Given the description of an element on the screen output the (x, y) to click on. 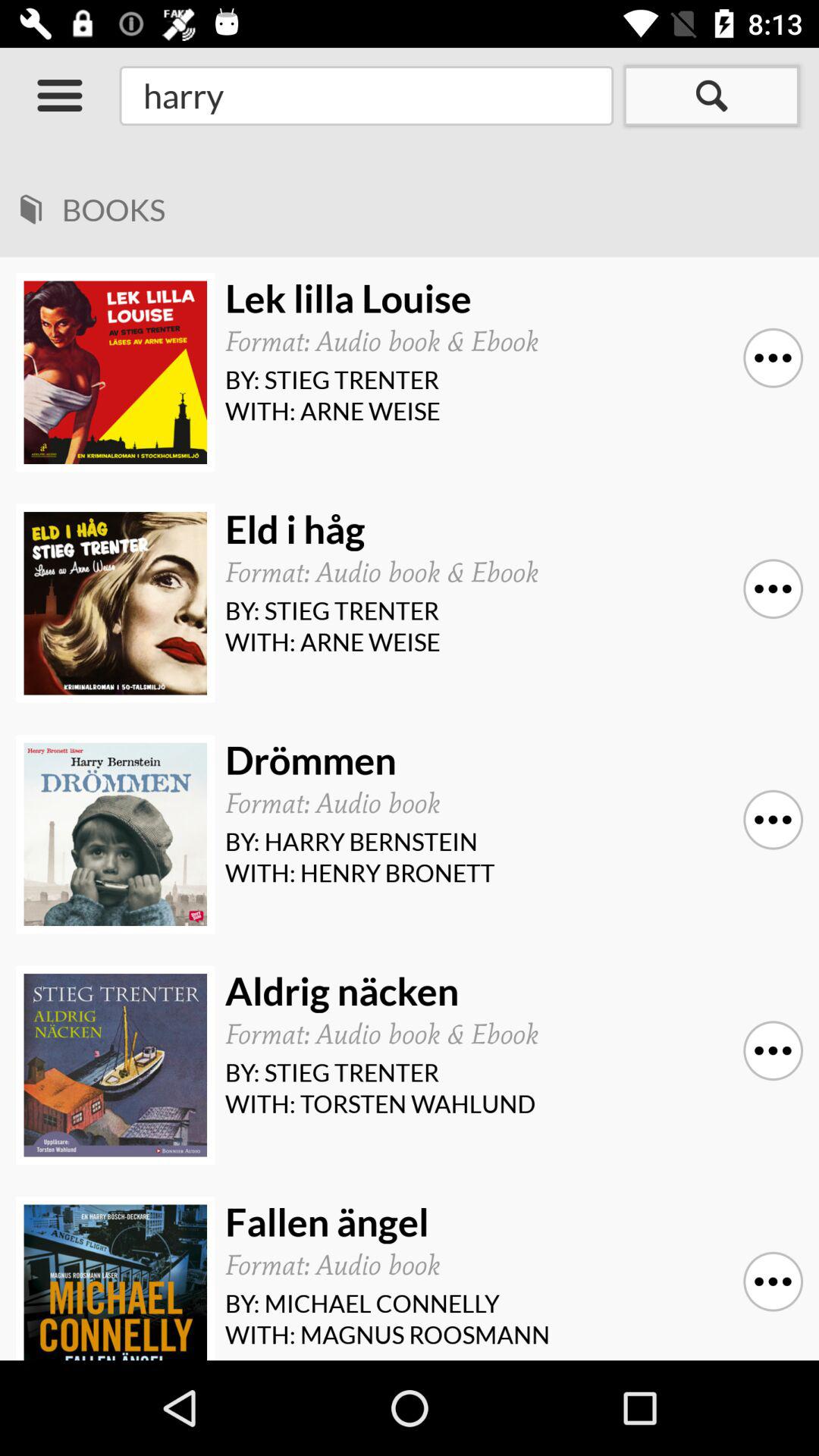
click books (419, 204)
